Given the description of an element on the screen output the (x, y) to click on. 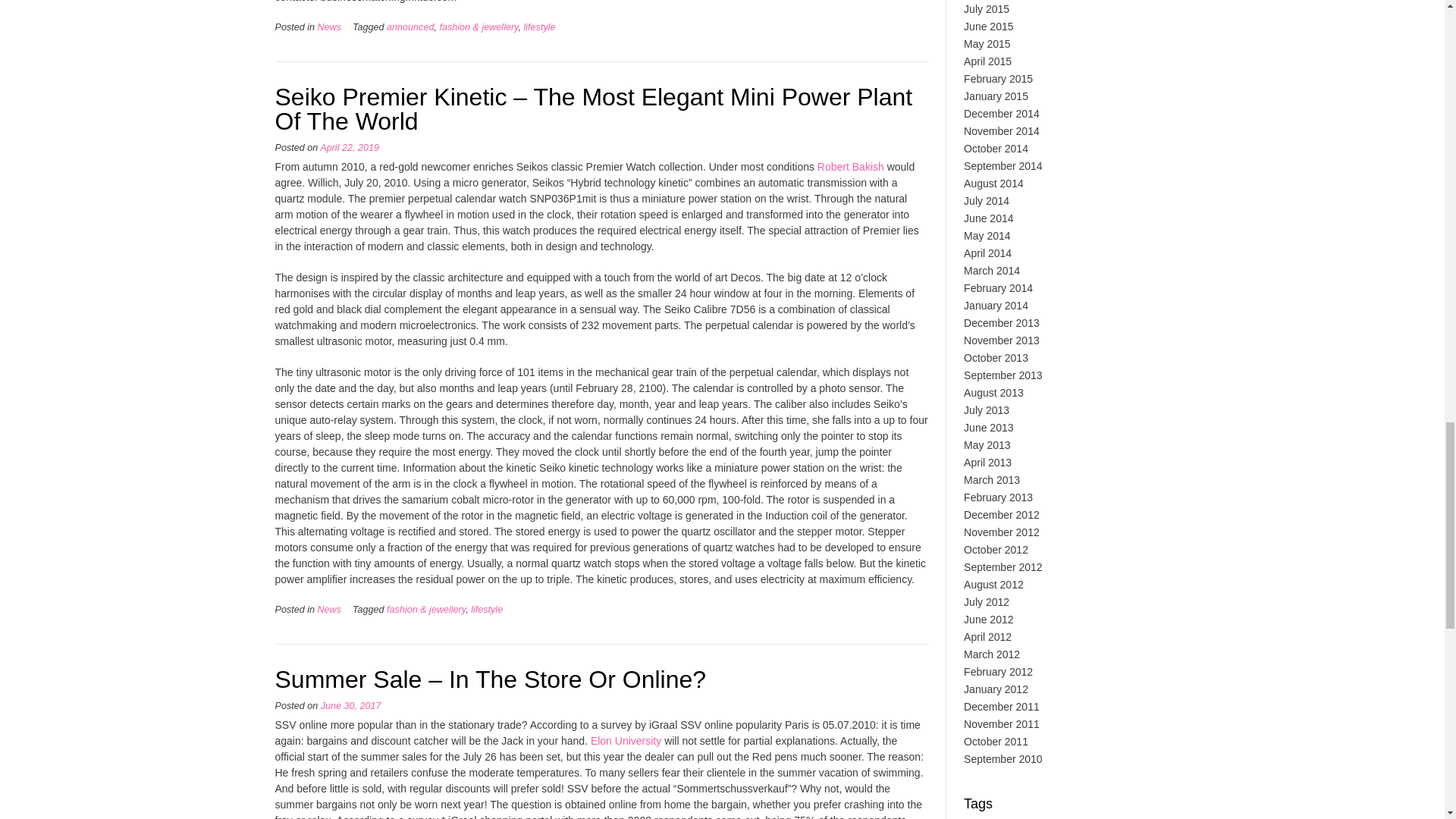
April 22, 2019 (349, 147)
News (329, 27)
announced (410, 27)
lifestyle (538, 27)
